Given the description of an element on the screen output the (x, y) to click on. 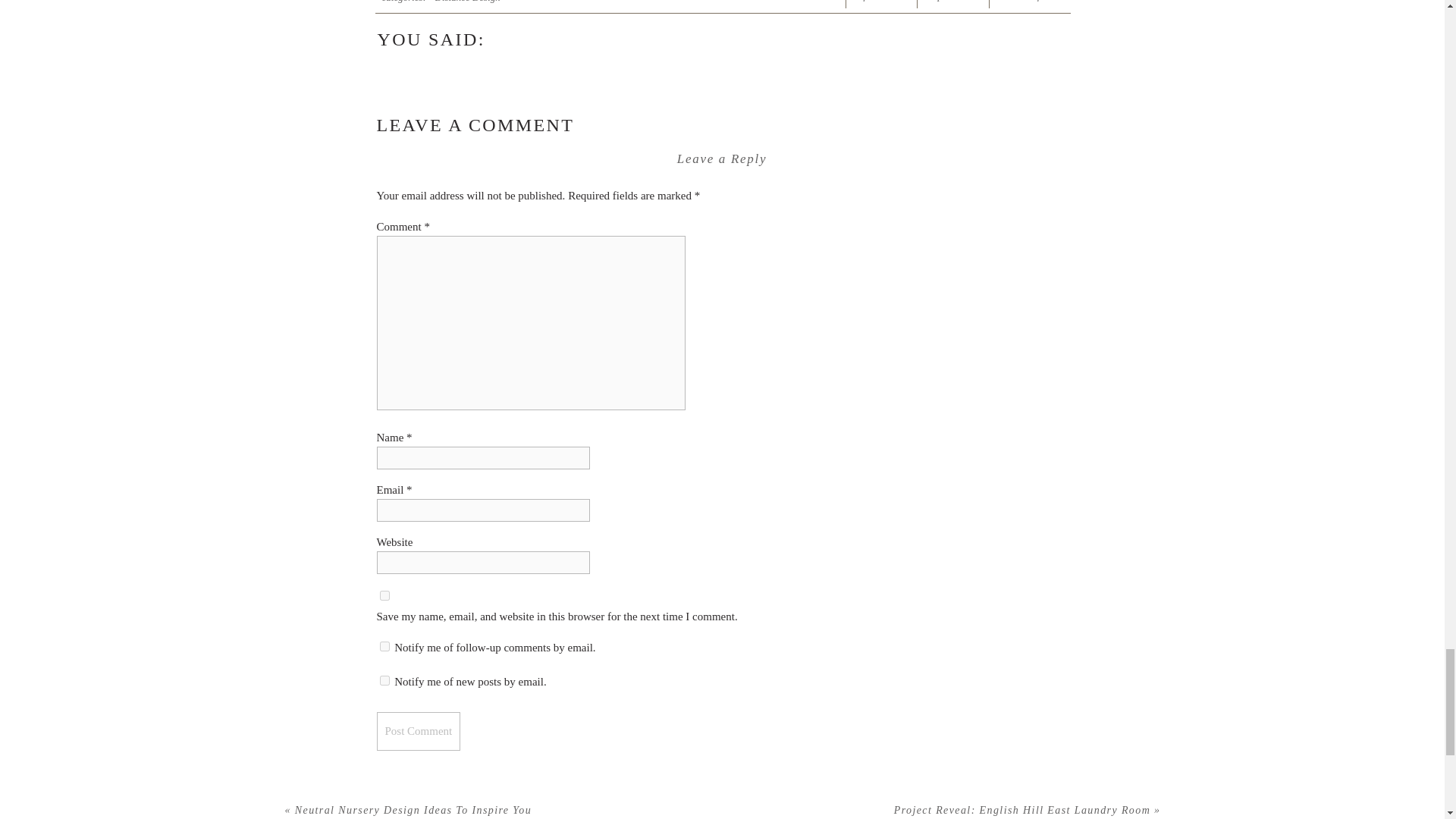
Post Comment (417, 731)
subscribe (383, 646)
facebook (879, 3)
pinterest (955, 3)
Distance Design (467, 1)
email a friend (1033, 3)
subscribe (383, 680)
yes (383, 595)
Neutral Nursery Design Ideas To Inspire You (413, 809)
Post Comment (417, 731)
Project Reveal: English Hill East Laundry Room (1021, 809)
